Given the description of an element on the screen output the (x, y) to click on. 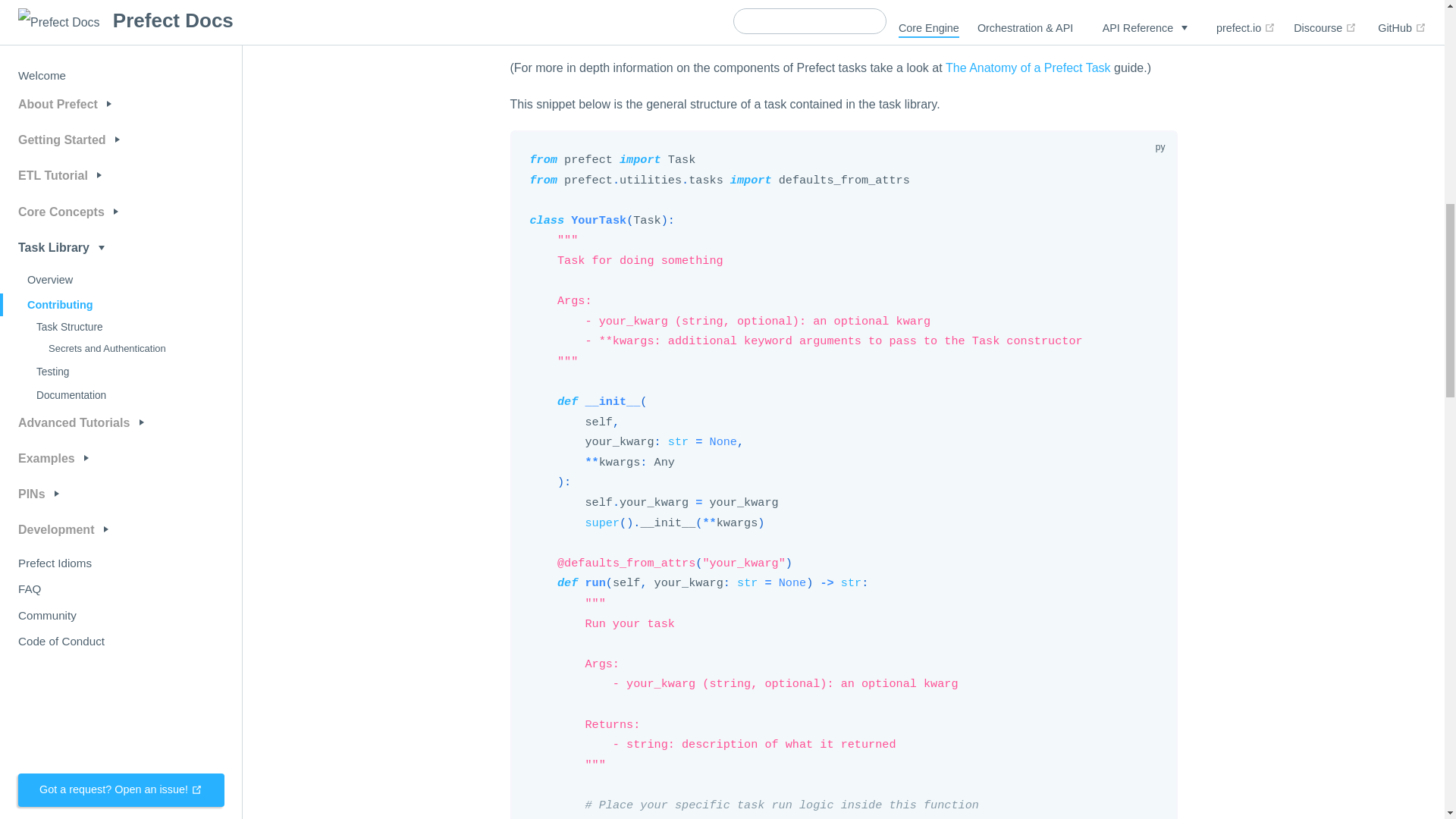
The Anatomy of a Prefect Task (1027, 67)
